Given the description of an element on the screen output the (x, y) to click on. 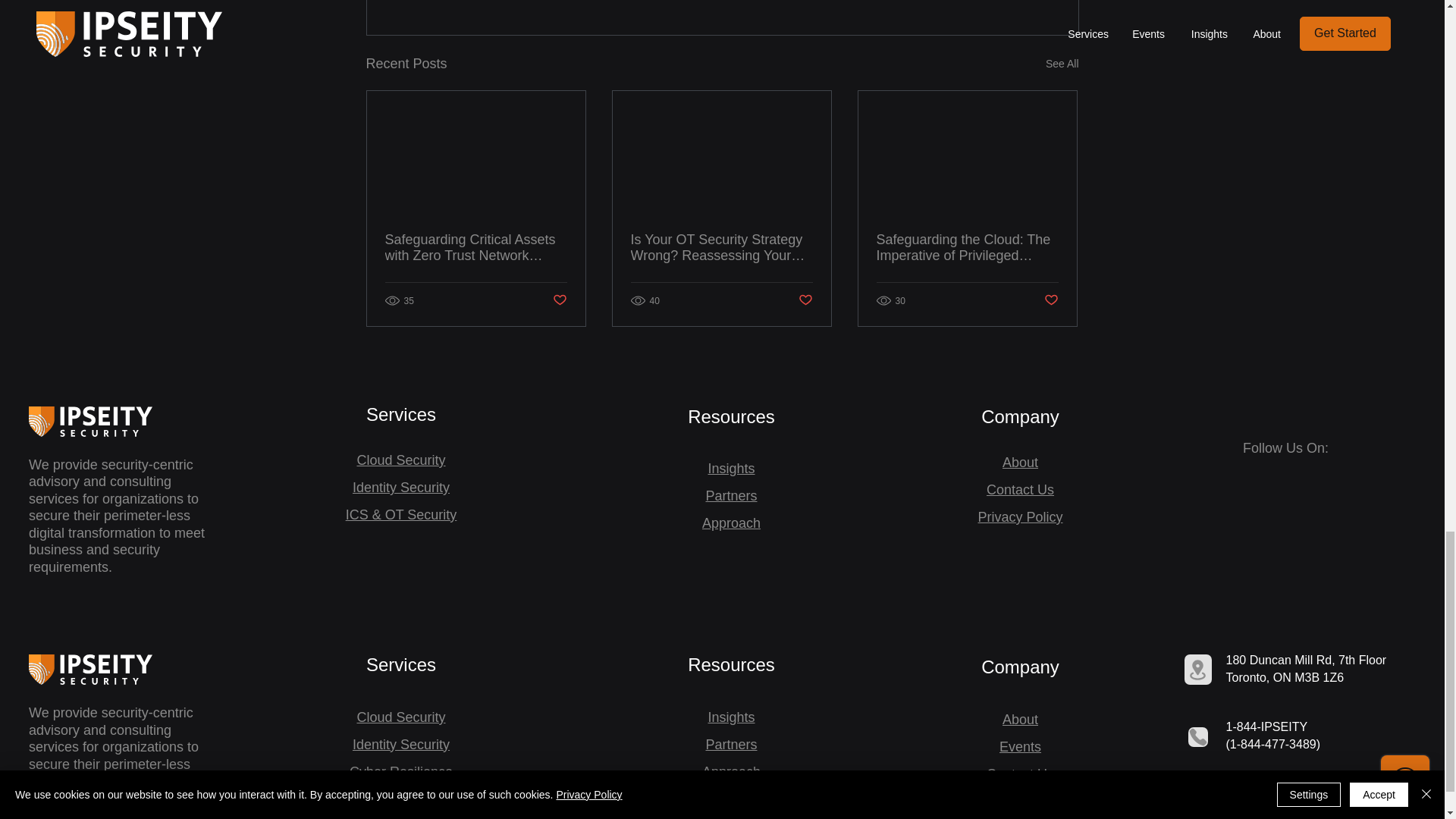
Cloud Security (400, 459)
Company (1020, 416)
Post not marked as liked (558, 300)
Post not marked as liked (1050, 300)
Partners (730, 495)
Post not marked as liked (804, 300)
Insights (730, 468)
Resources (730, 416)
Services (400, 414)
Approach (730, 522)
See All (1061, 64)
Identity Security (400, 487)
